Given the description of an element on the screen output the (x, y) to click on. 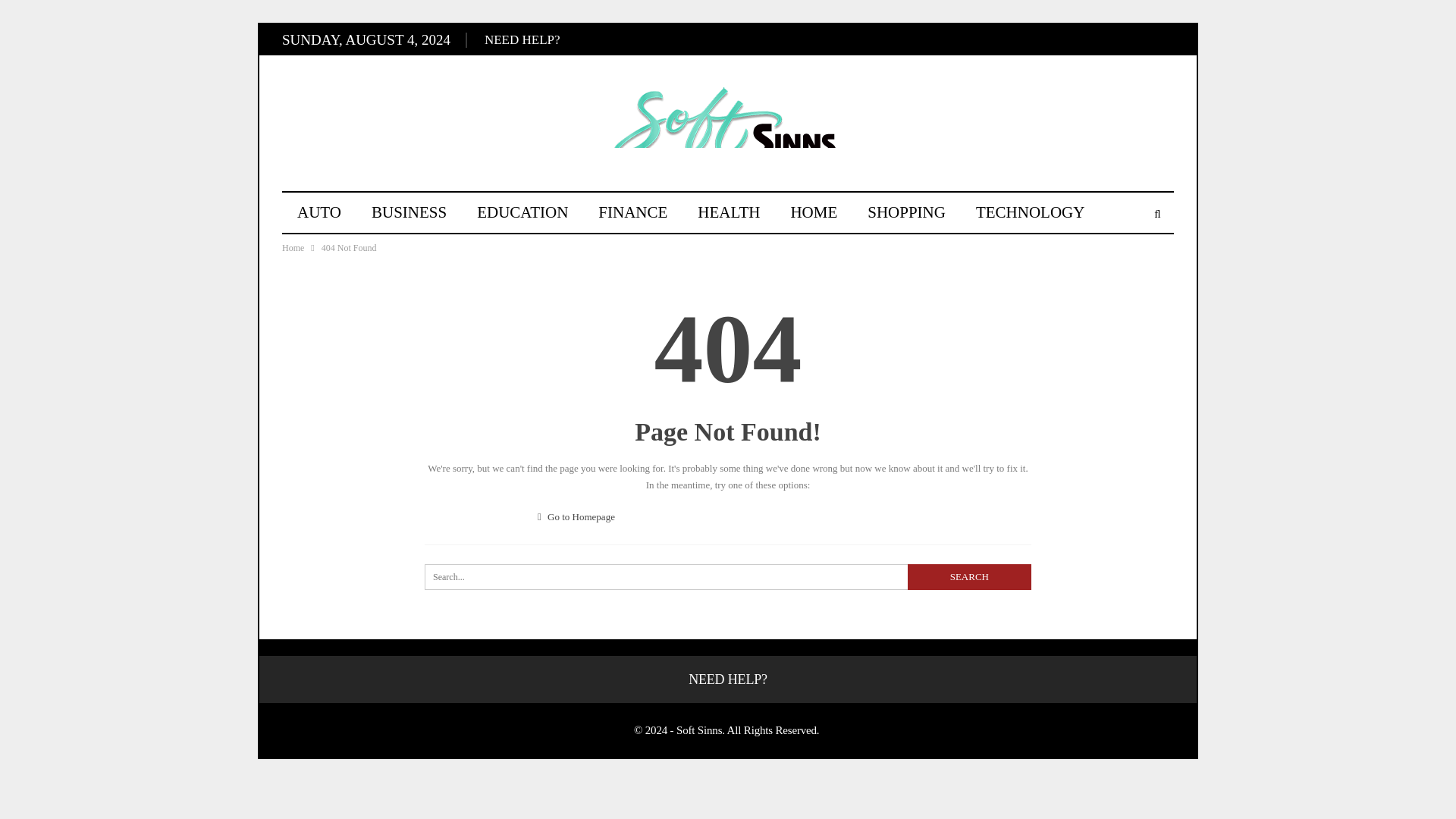
FINANCE (632, 211)
Search for: (727, 576)
NEED HELP? (522, 39)
Search (968, 576)
BUSINESS (408, 211)
Search (968, 576)
TECHNOLOGY (1029, 211)
SHOPPING (905, 211)
Go to Homepage (575, 516)
NEED HELP? (727, 679)
HOME (812, 211)
TRAVEL (327, 251)
EDUCATION (522, 211)
AUTO (319, 211)
Search (968, 576)
